Given the description of an element on the screen output the (x, y) to click on. 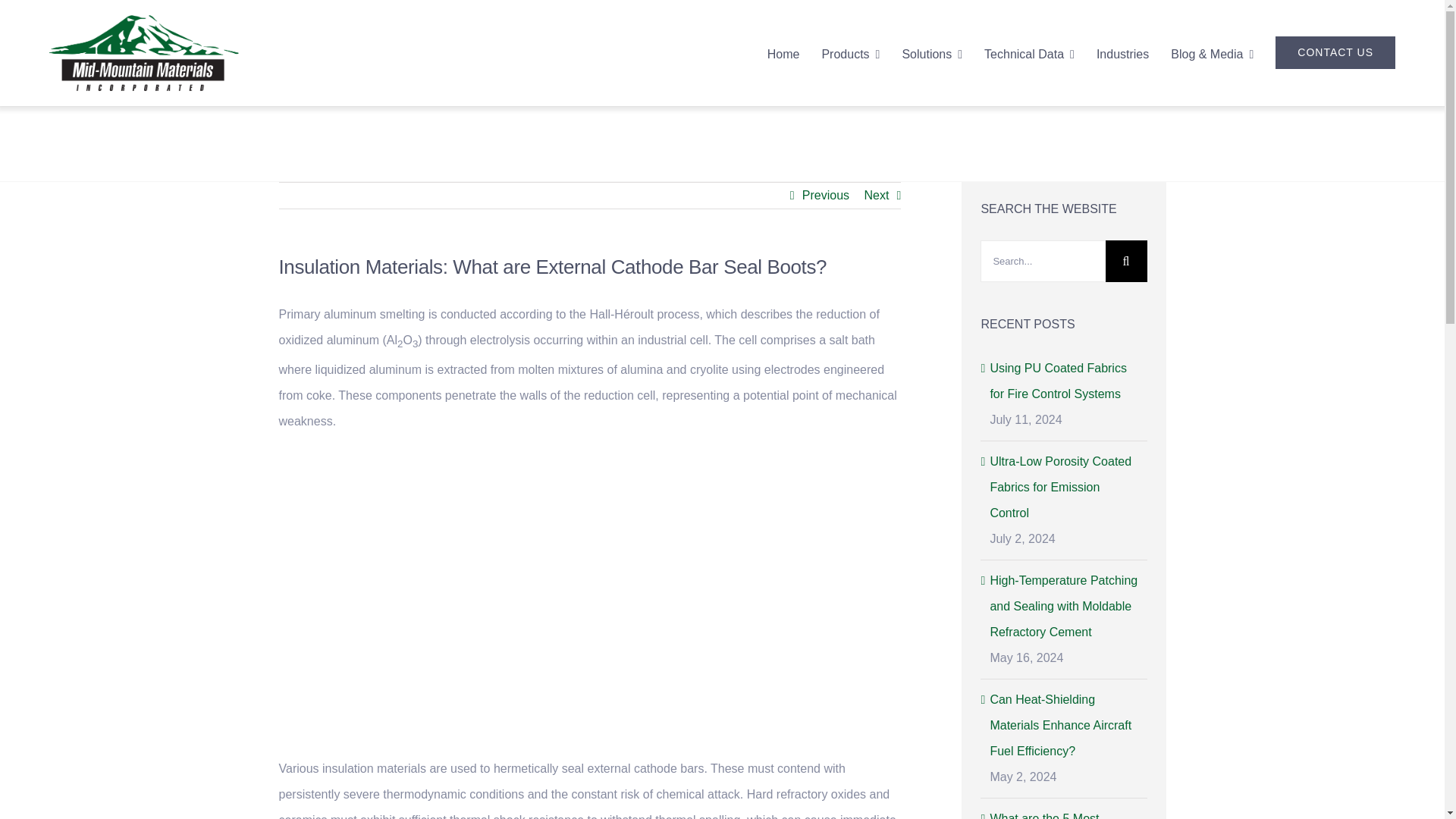
Products (850, 52)
